Given the description of an element on the screen output the (x, y) to click on. 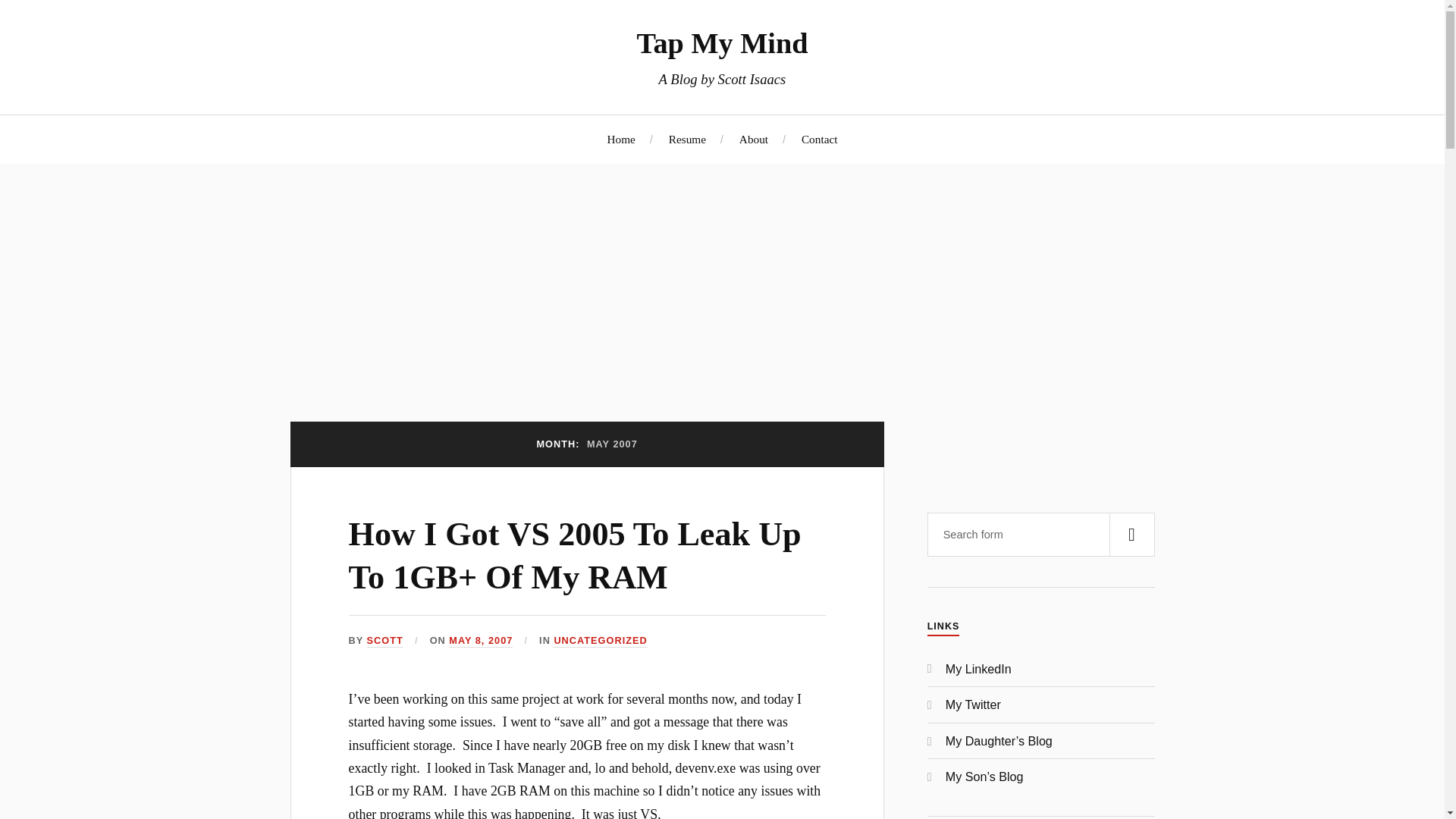
SCOTT (384, 640)
Posts by Scott (384, 640)
My LinkedIn (977, 668)
My Twitter (972, 704)
MAY 8, 2007 (480, 640)
UNCATEGORIZED (599, 640)
Tap My Mind (722, 42)
